Given the description of an element on the screen output the (x, y) to click on. 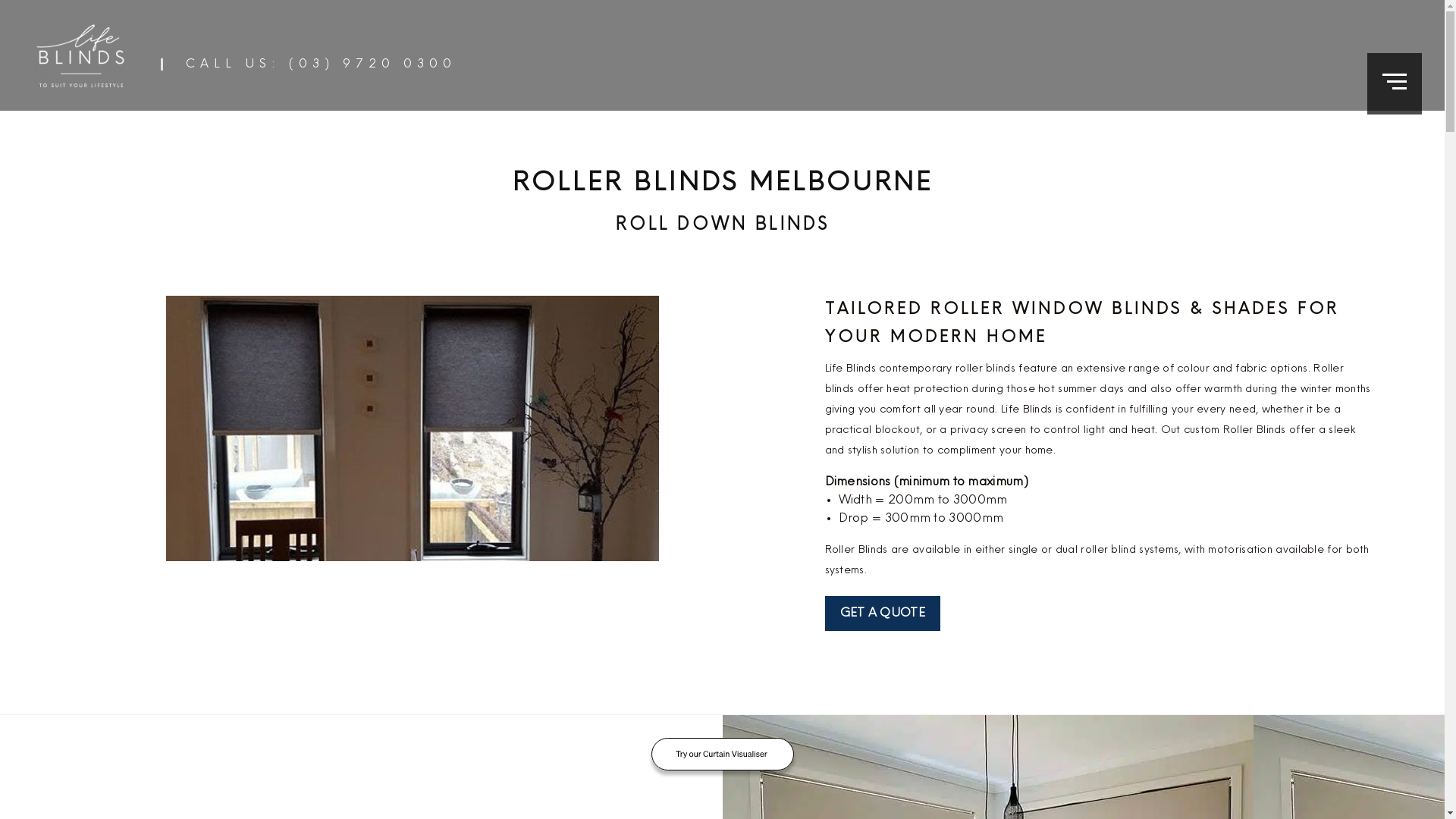
GET A QUOTE Element type: text (882, 613)
